Given the description of an element on the screen output the (x, y) to click on. 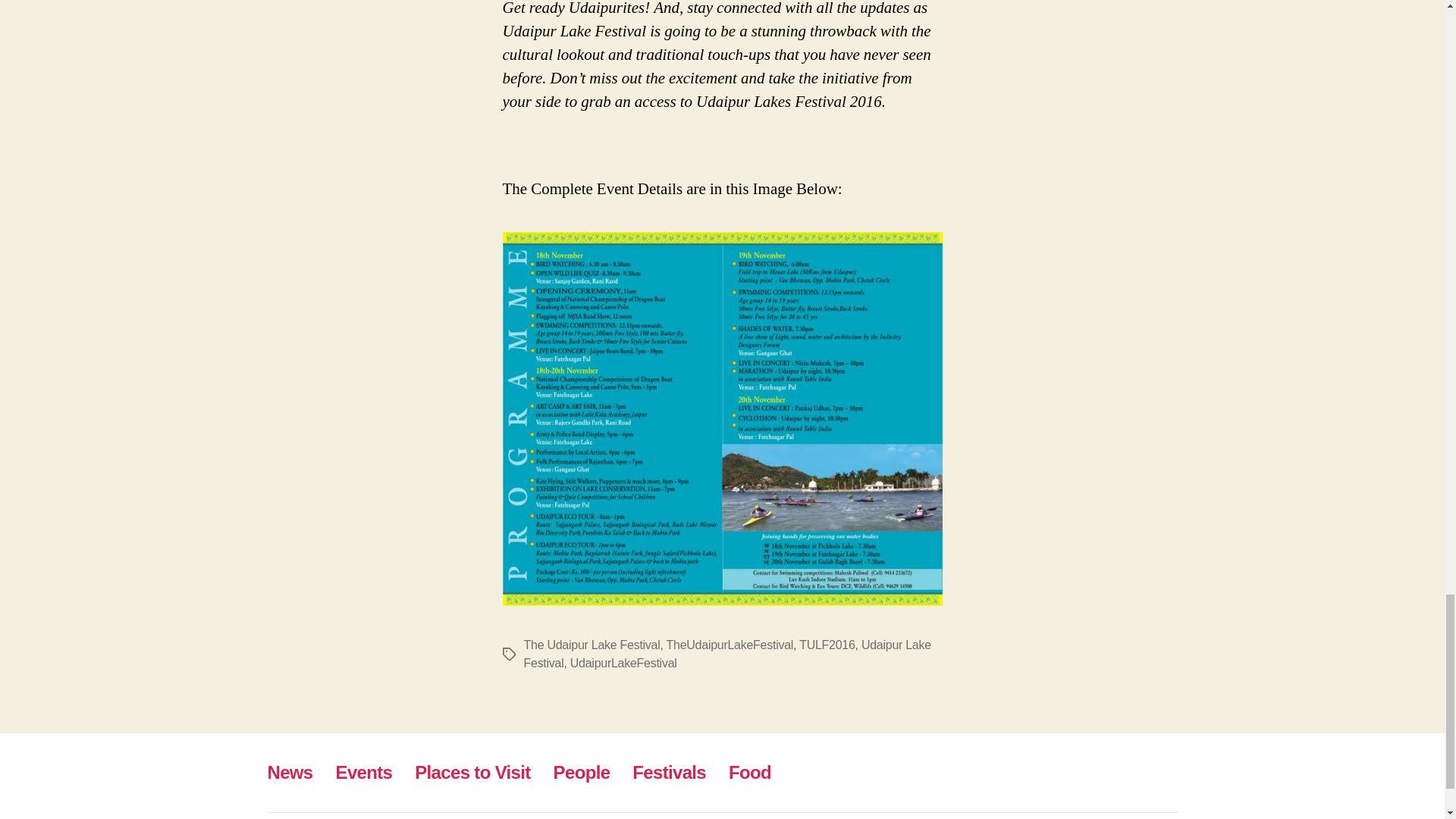
UdaipurLakeFestival (623, 662)
Udaipur Lake Festival (726, 653)
Events (364, 772)
Places to Visit (471, 772)
News (289, 772)
TULF2016 (826, 644)
The Udaipur Lake Festival (590, 644)
TheUdaipurLakeFestival (729, 644)
